Given the description of an element on the screen output the (x, y) to click on. 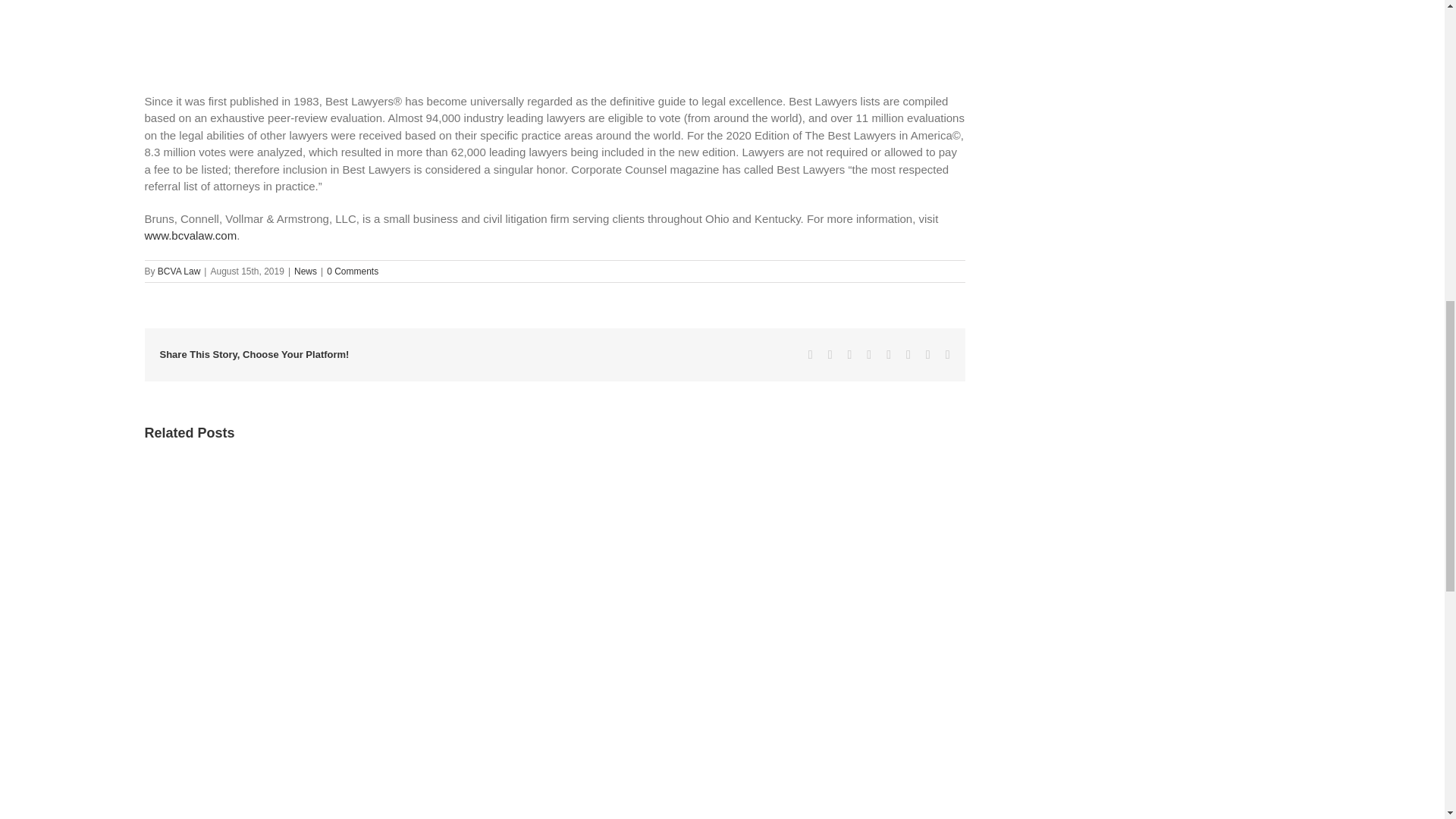
www.bcvalaw.com (189, 235)
News (305, 270)
0 Comments (352, 270)
Posts by BCVA Law (178, 270)
BCVA Law (178, 270)
